Given the description of an element on the screen output the (x, y) to click on. 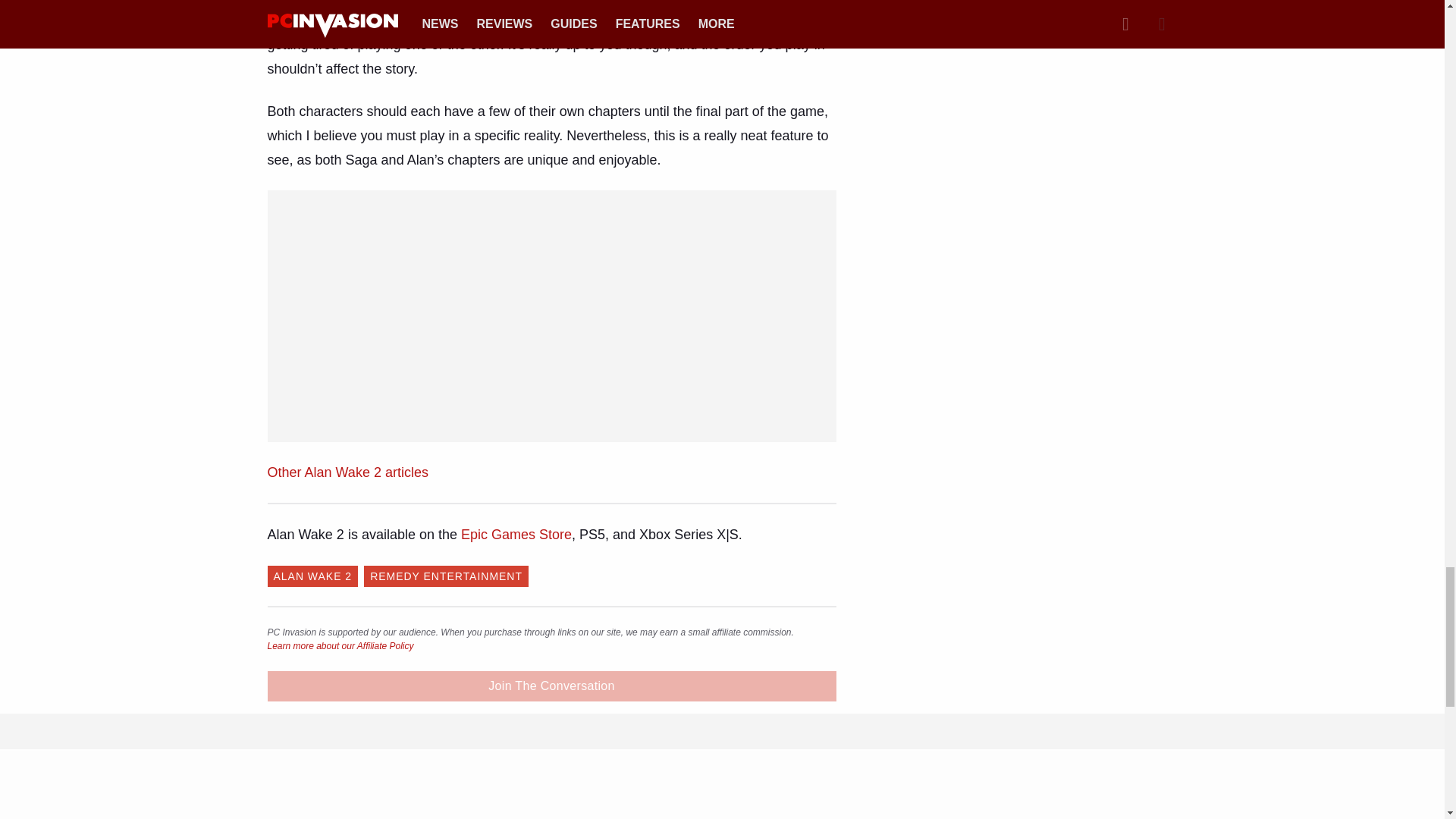
Other Alan Wake 2 articles (347, 472)
Join The Conversation (550, 685)
